Given the description of an element on the screen output the (x, y) to click on. 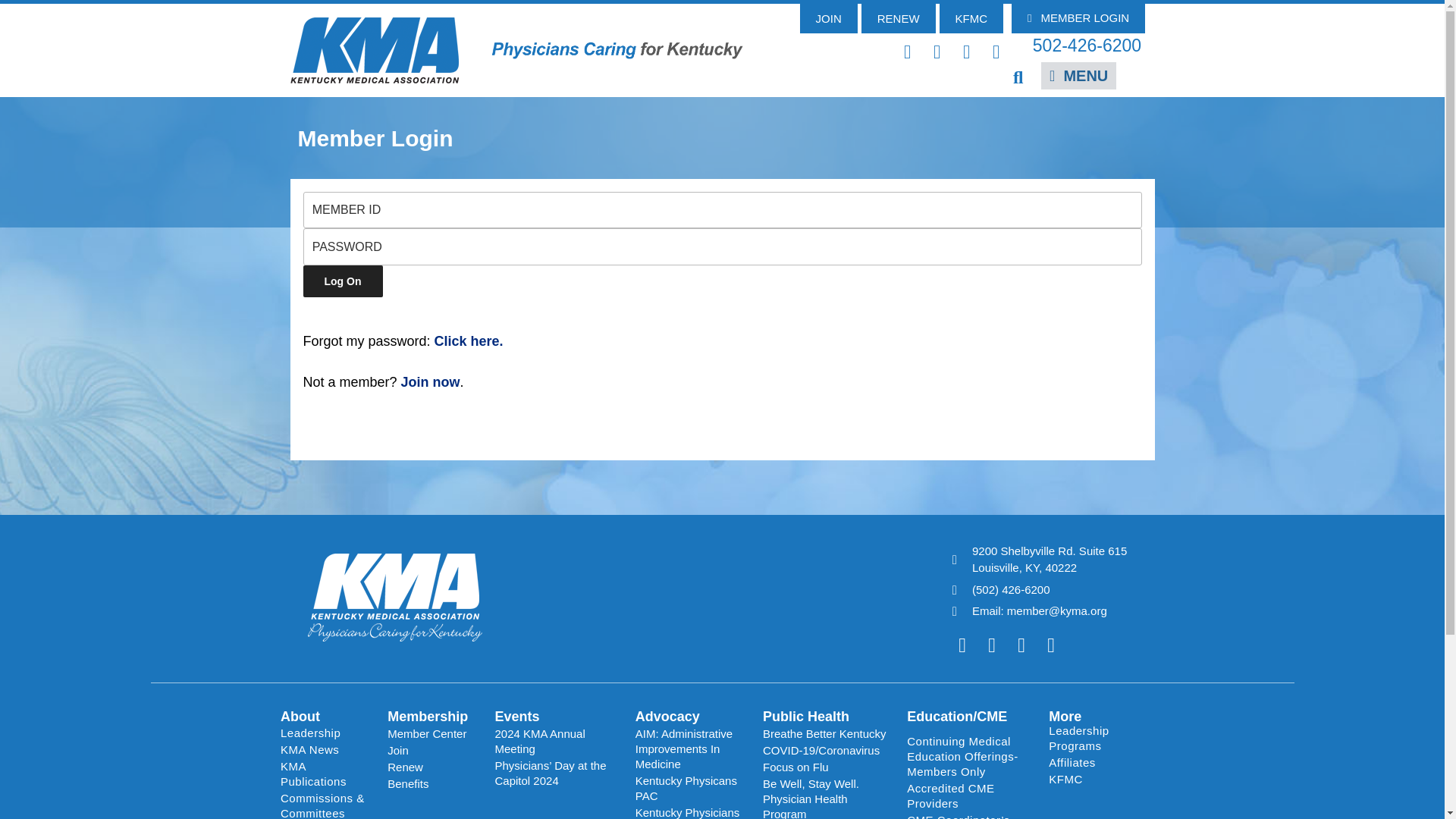
About (300, 716)
Join (433, 750)
Benefits (433, 783)
MEMBER LOGIN (1077, 18)
KFMC (971, 18)
MENU (1078, 75)
Membership (427, 716)
502-426-6200 (1086, 45)
JOIN (828, 18)
Member Center (433, 733)
Click here. (468, 340)
Log On (342, 281)
Leadership (326, 733)
Log On (342, 281)
KMA Publications (326, 774)
